Given the description of an element on the screen output the (x, y) to click on. 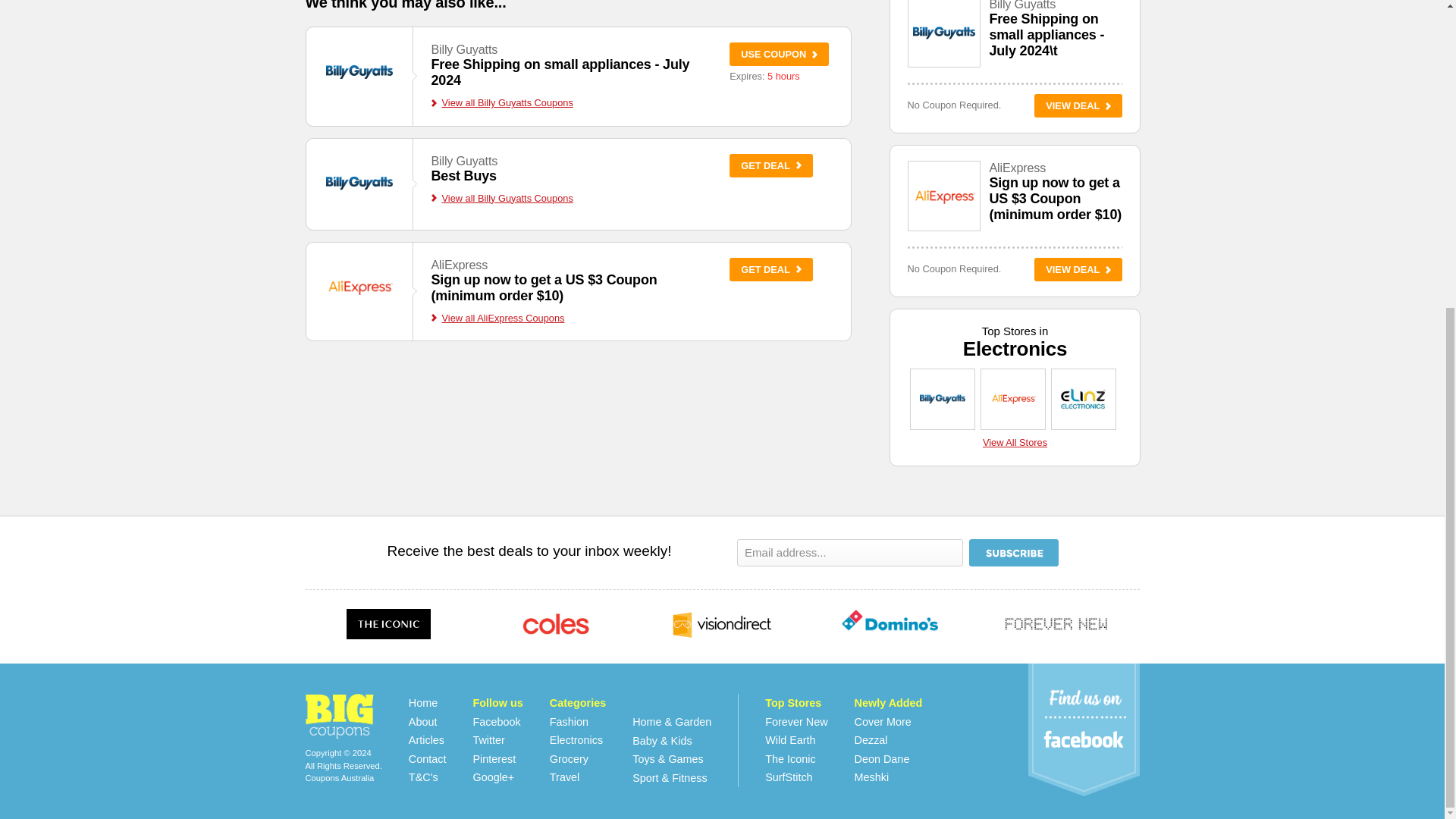
Contact (427, 758)
Forever New (1055, 626)
VIEW DEAL (1077, 269)
VIEW DEAL (1077, 105)
USE COUPON (559, 71)
About (463, 175)
Home (778, 54)
Articles (423, 721)
View all AliExpress Coupons (423, 702)
View All Stores (426, 739)
View all Billy Guyatts Coupons (497, 317)
Dominos (1014, 441)
GET DEAL (501, 102)
